Given the description of an element on the screen output the (x, y) to click on. 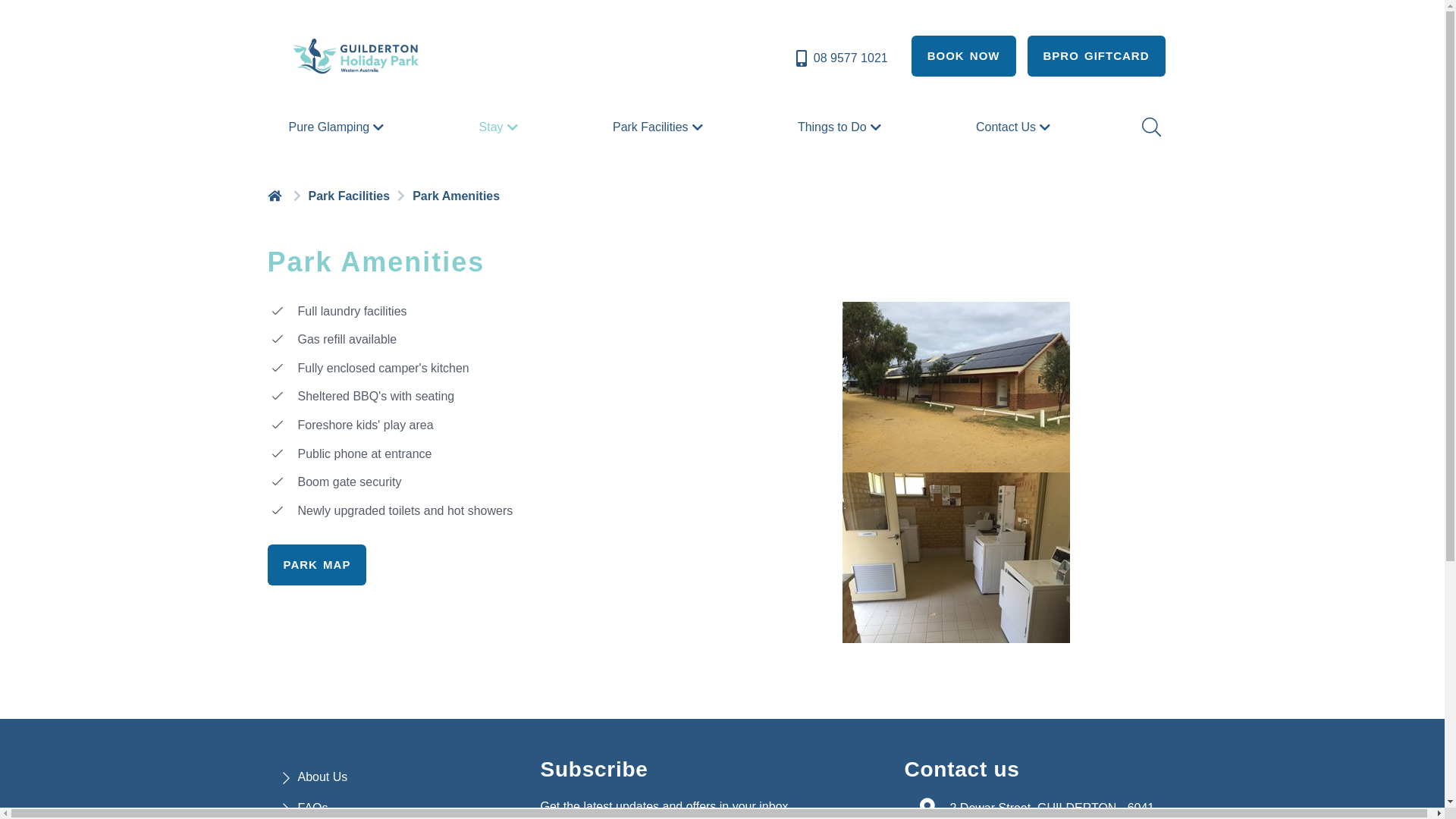
Search Element type: text (1150, 127)
  Element type: text (275, 195)
BPRO GIFTCARD Element type: text (1095, 55)
Pure Glamping Element type: text (337, 127)
Contact Us Element type: text (1014, 127)
PARK MAP Element type: text (316, 564)
About Us Element type: text (322, 776)
Things to Do Element type: text (841, 127)
BOOK NOW Element type: text (963, 55)
Park Facilities Element type: text (659, 127)
FAQs Element type: text (312, 807)
Stay Element type: text (500, 127)
08 9577 1021 Element type: text (840, 58)
